Given the description of an element on the screen output the (x, y) to click on. 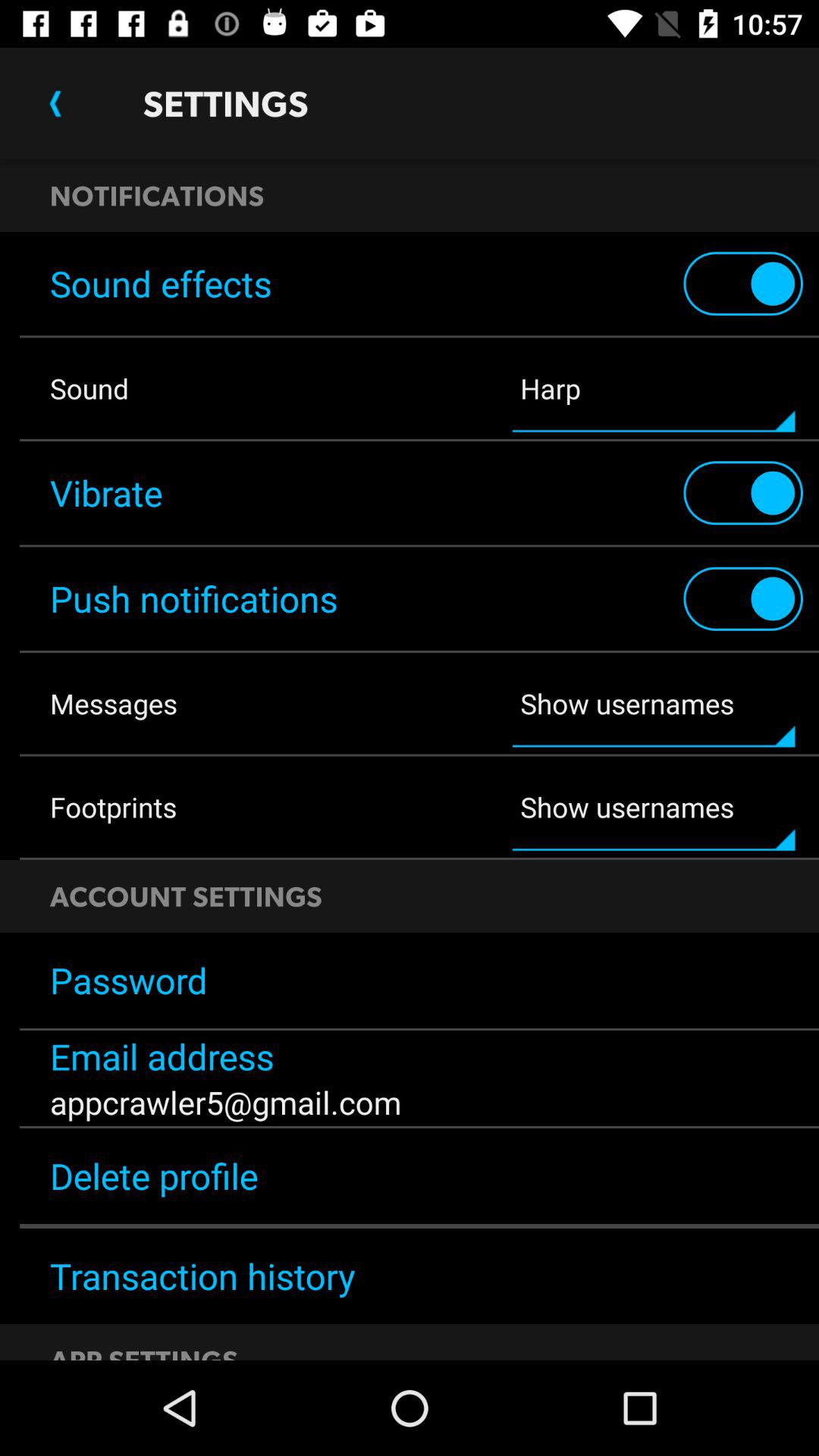
turn on the transaction history icon (409, 1276)
